Given the description of an element on the screen output the (x, y) to click on. 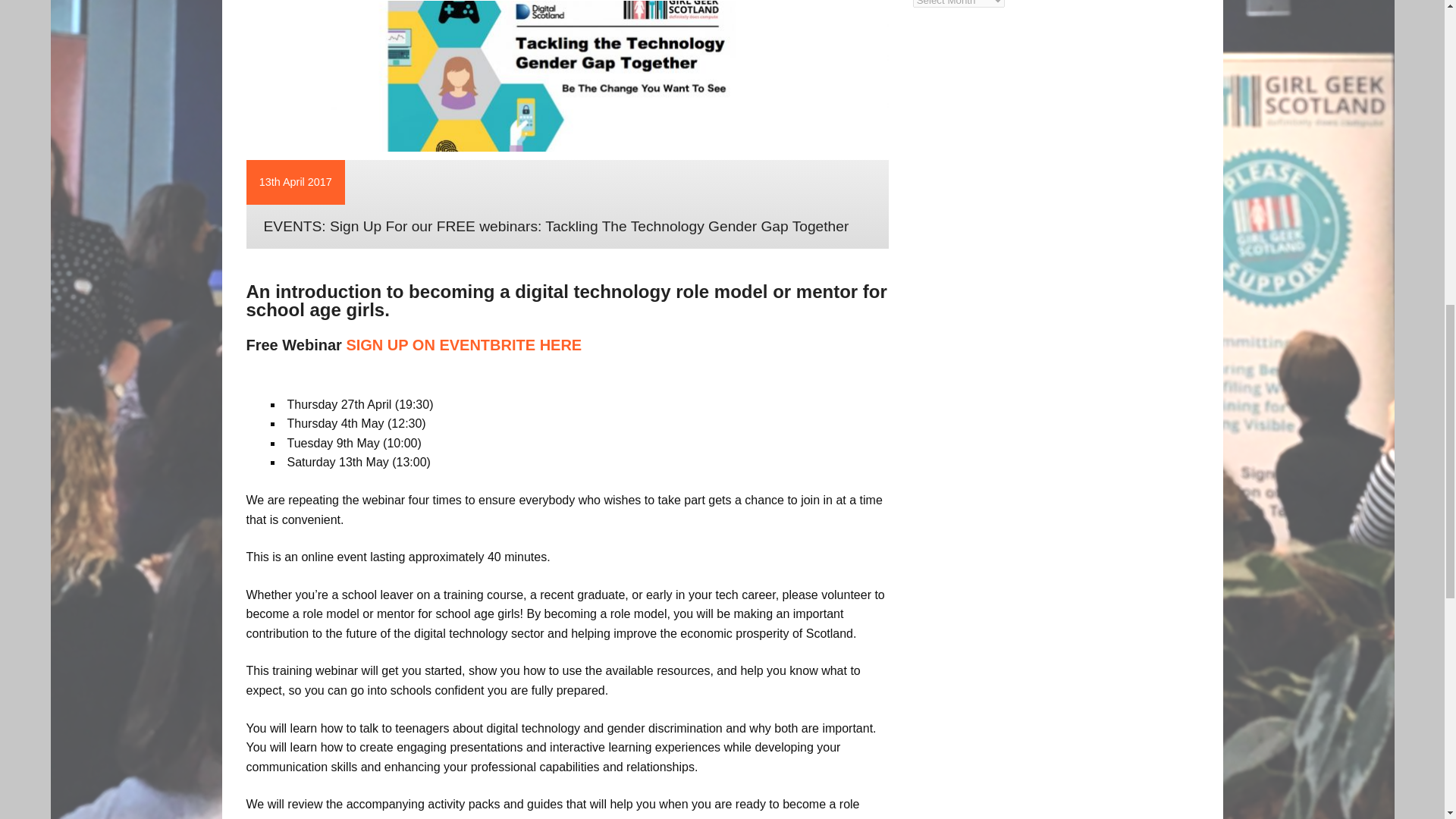
SIGN UP ON EVENTBRITE HERE (463, 344)
11:29 am (295, 182)
13th April 2017 (295, 182)
